Given the description of an element on the screen output the (x, y) to click on. 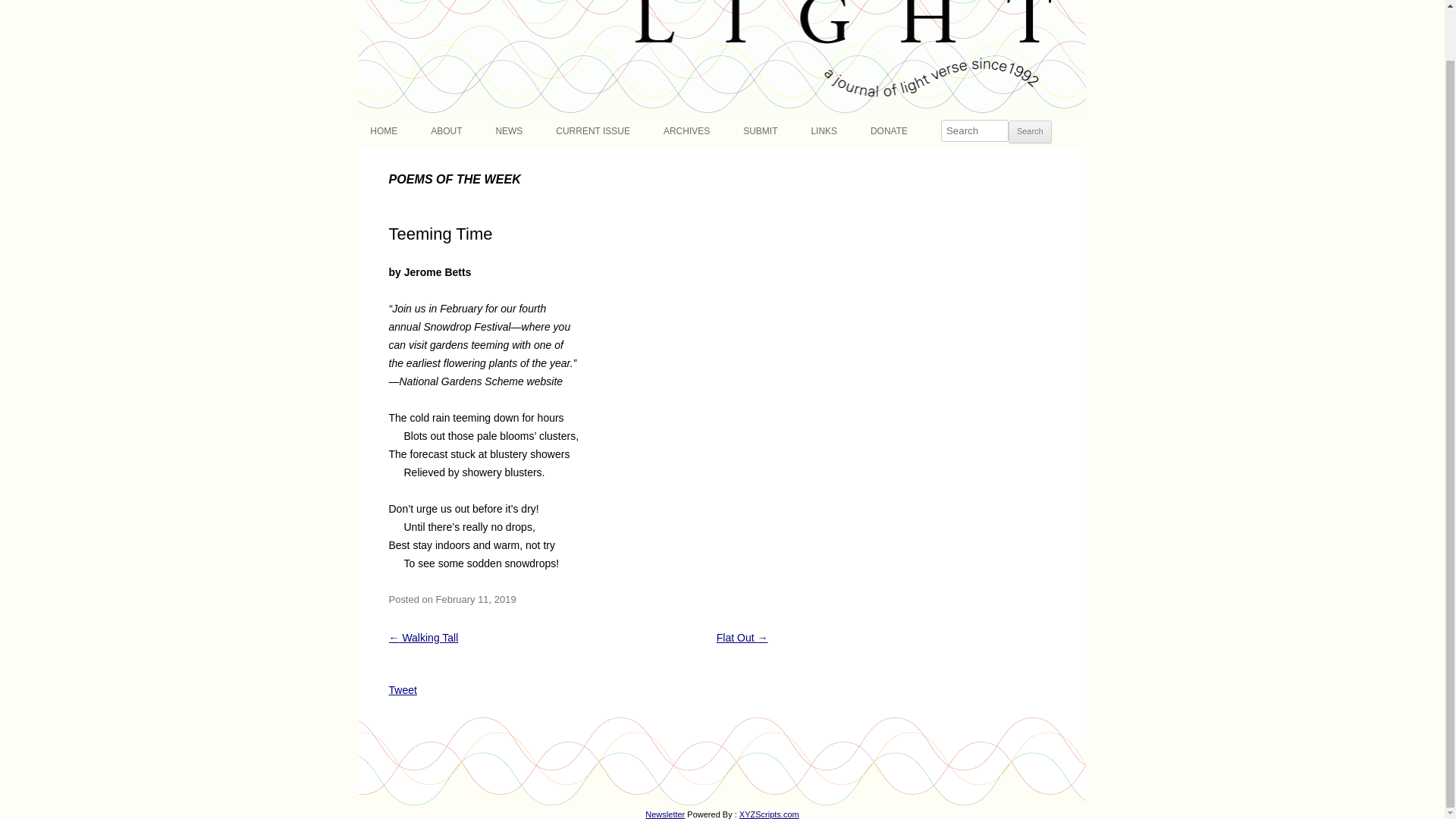
DONATE (888, 131)
SUBMIT (759, 131)
Search (1030, 131)
Tweet (402, 689)
Search (1030, 131)
ABOUT (445, 131)
ARCHIVES (686, 131)
CURRENT ISSUE (593, 131)
